Given the description of an element on the screen output the (x, y) to click on. 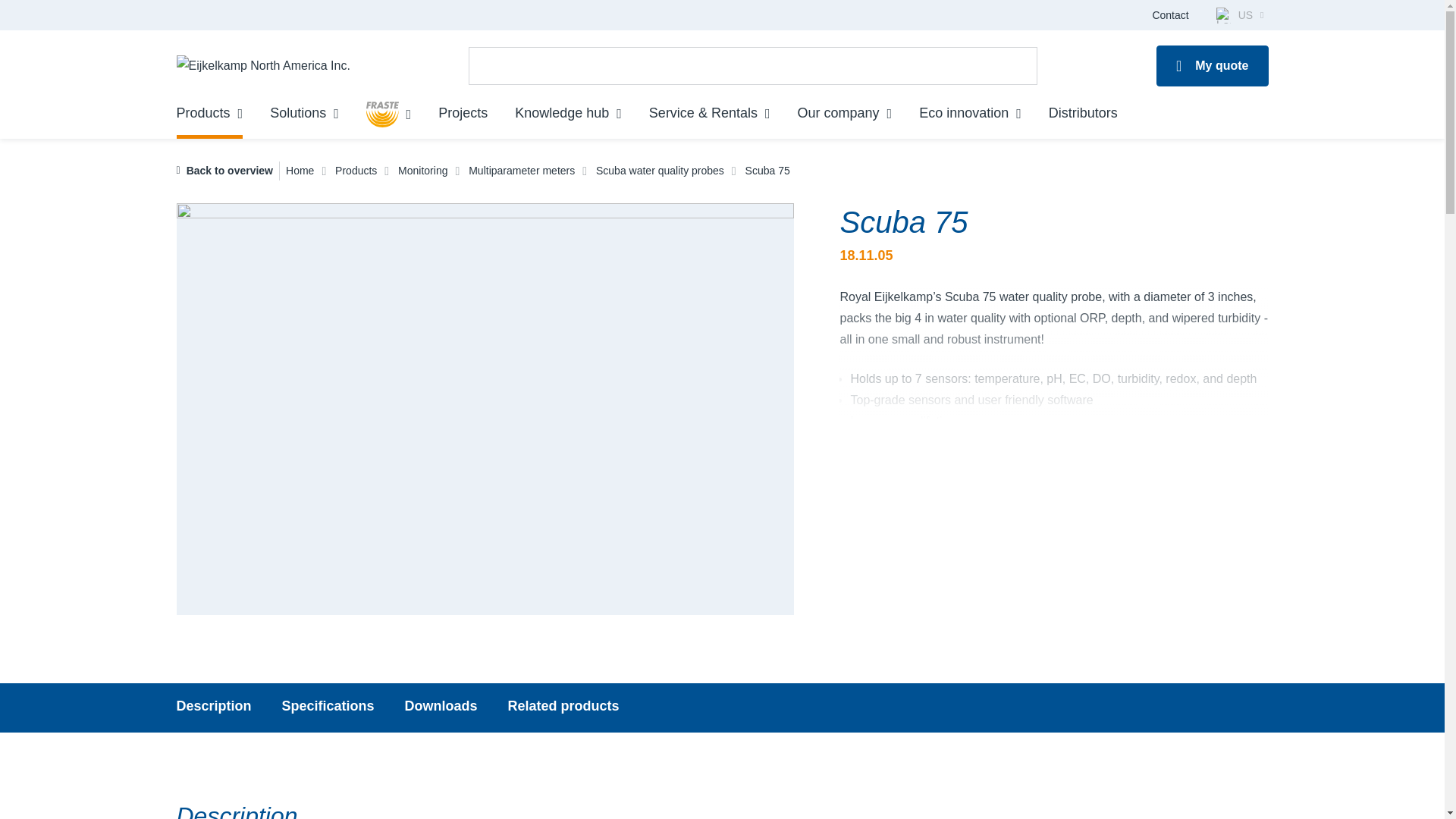
Downloads (440, 708)
Back to the home page (262, 65)
US (1239, 15)
Related products (564, 708)
Description (213, 708)
Products (722, 708)
My quote (209, 117)
Contact (1212, 65)
Downloads (1169, 15)
Specifications (440, 708)
Related products (328, 708)
Specifications (564, 708)
Description (328, 708)
Contact (213, 708)
